Given the description of an element on the screen output the (x, y) to click on. 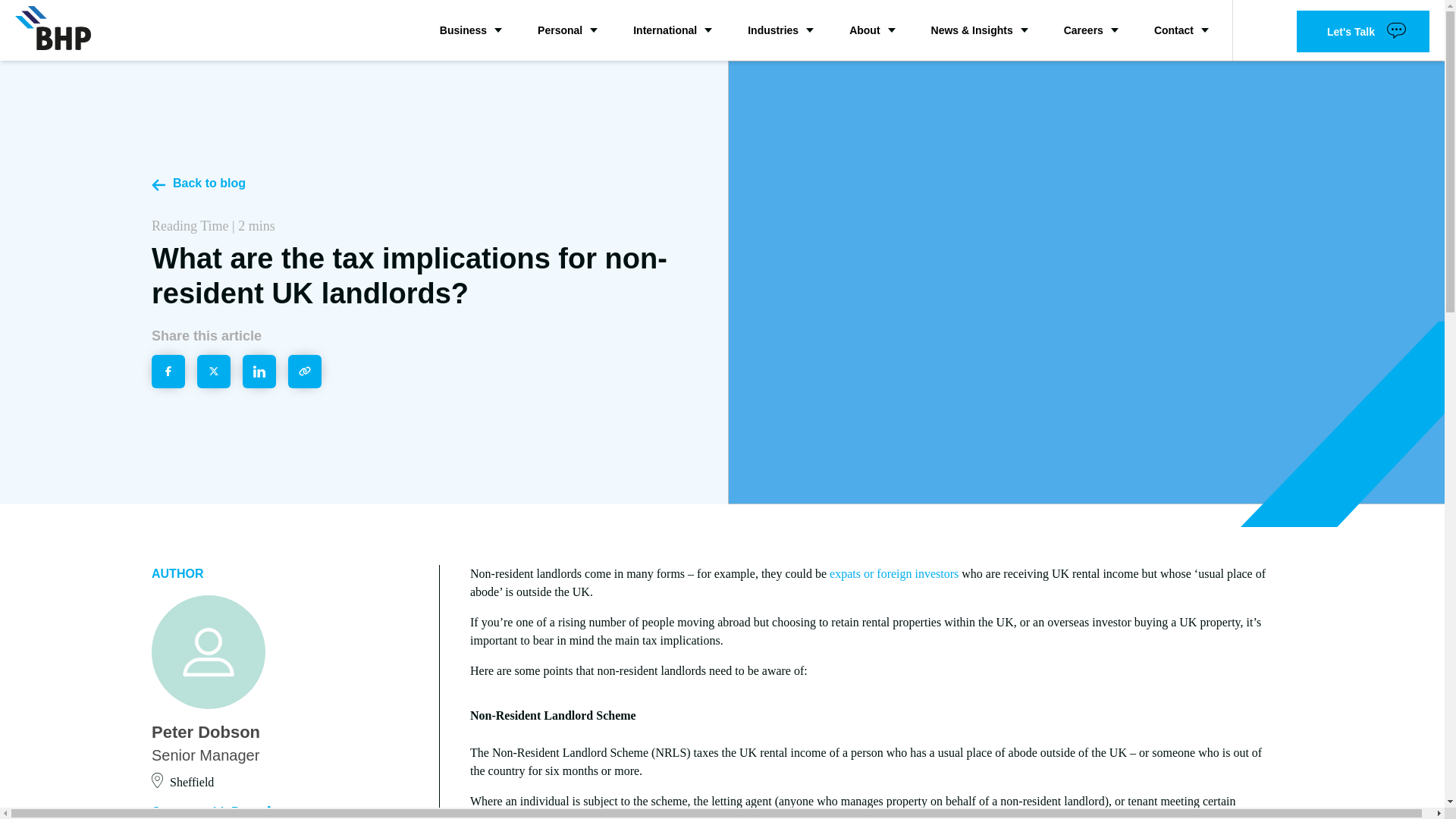
Business (470, 30)
BHP, Chartered Accountants (52, 27)
